Given the description of an element on the screen output the (x, y) to click on. 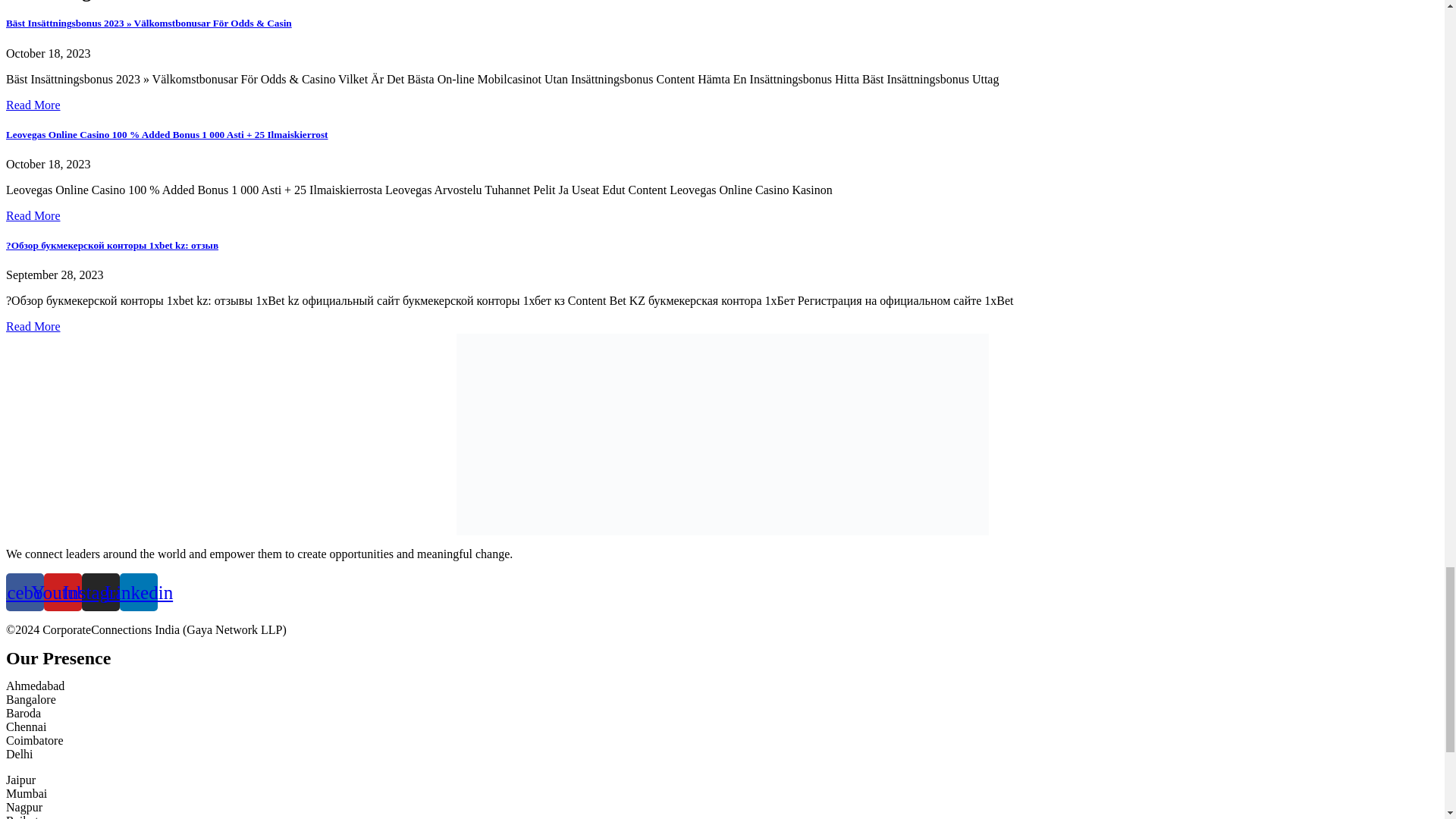
Instagram (100, 591)
Facebook (24, 591)
Linkedin (138, 591)
Read More (33, 104)
Youtube (62, 591)
Read More (33, 326)
Read More (33, 215)
